Given the description of an element on the screen output the (x, y) to click on. 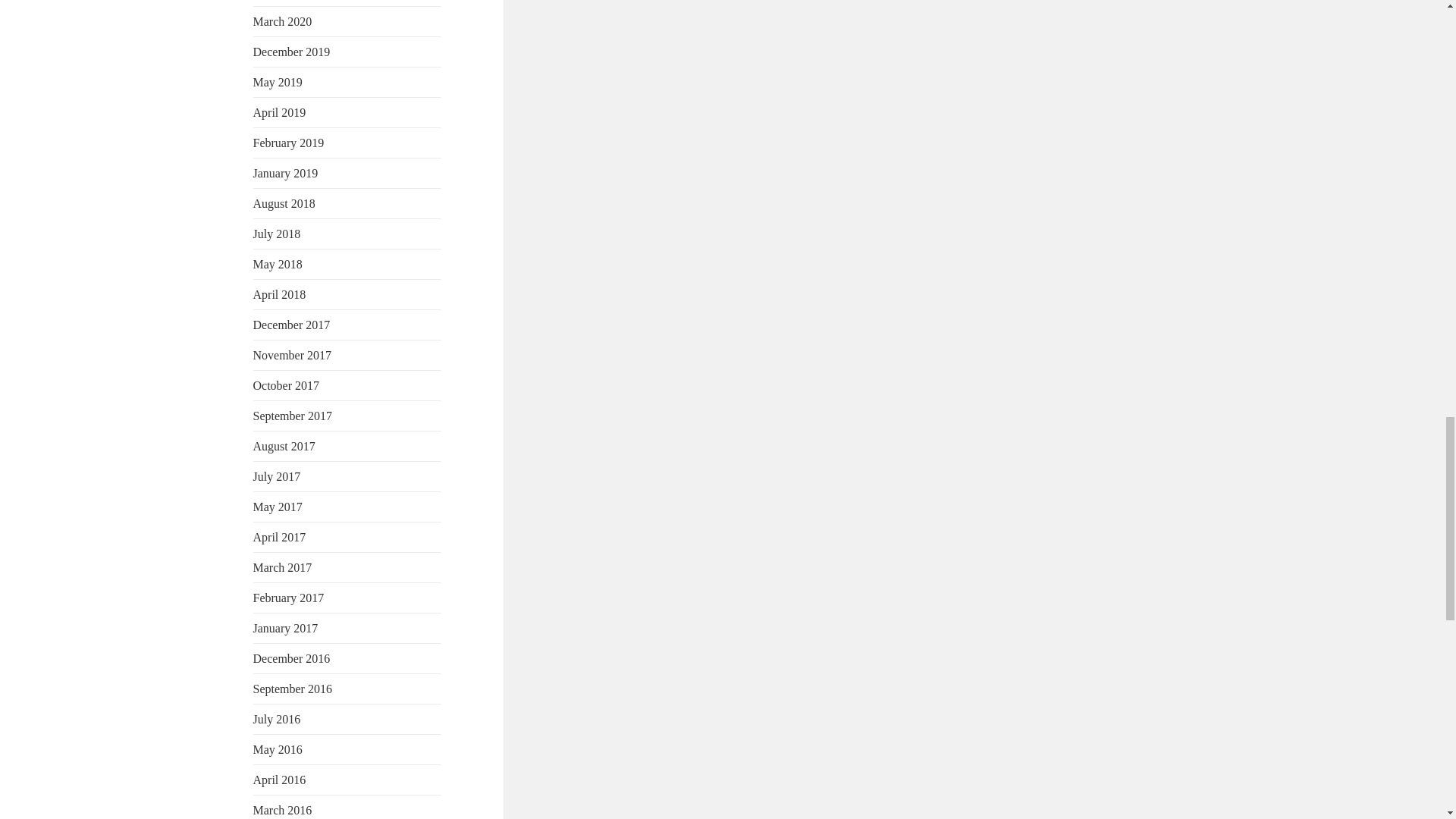
March 2020 (283, 21)
January 2019 (285, 173)
May 2019 (277, 82)
December 2019 (291, 51)
April 2019 (279, 112)
February 2019 (288, 142)
